Given the description of an element on the screen output the (x, y) to click on. 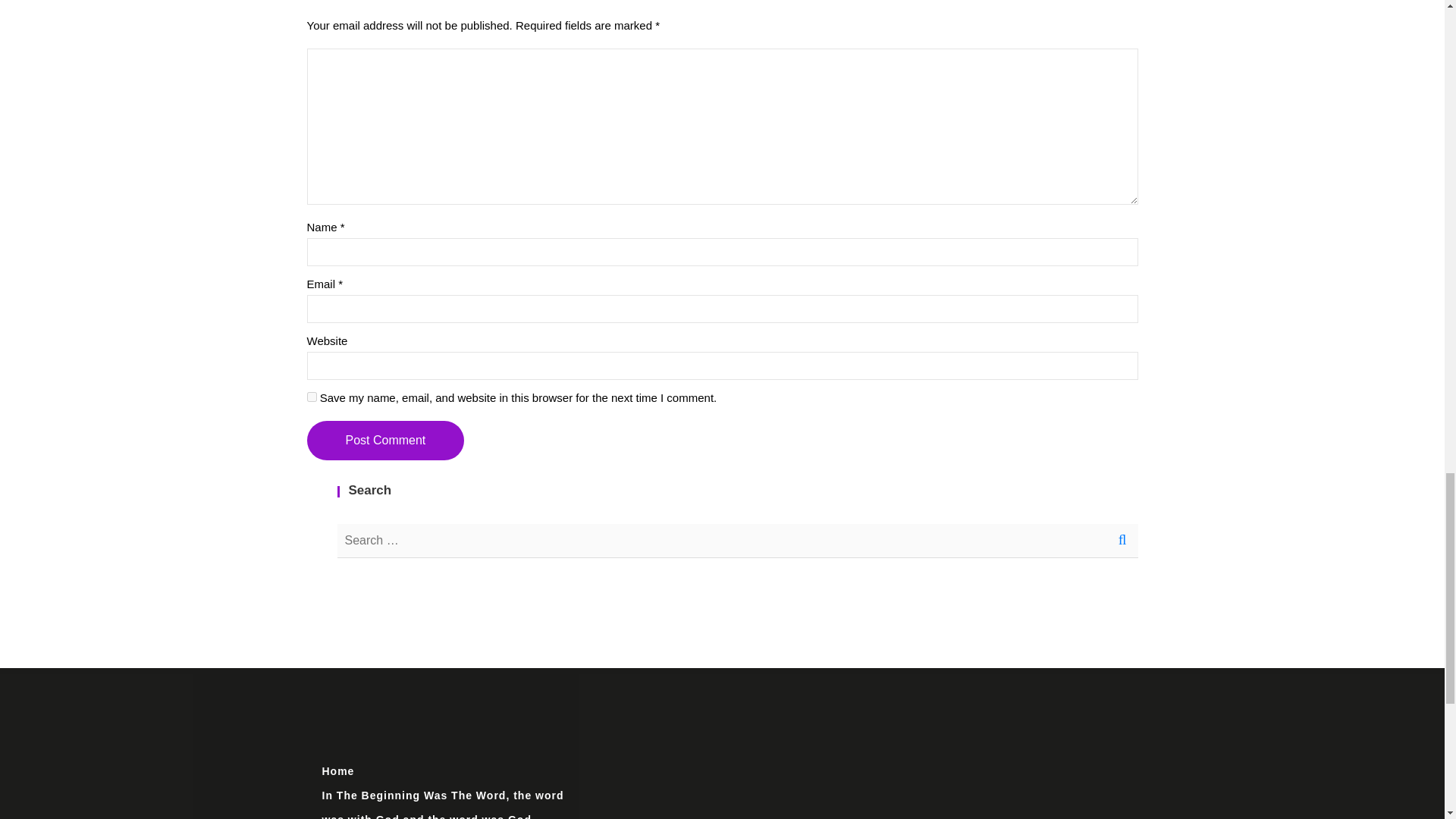
Search (1120, 541)
Search (1120, 541)
yes (310, 397)
Post Comment (384, 440)
